Given the description of an element on the screen output the (x, y) to click on. 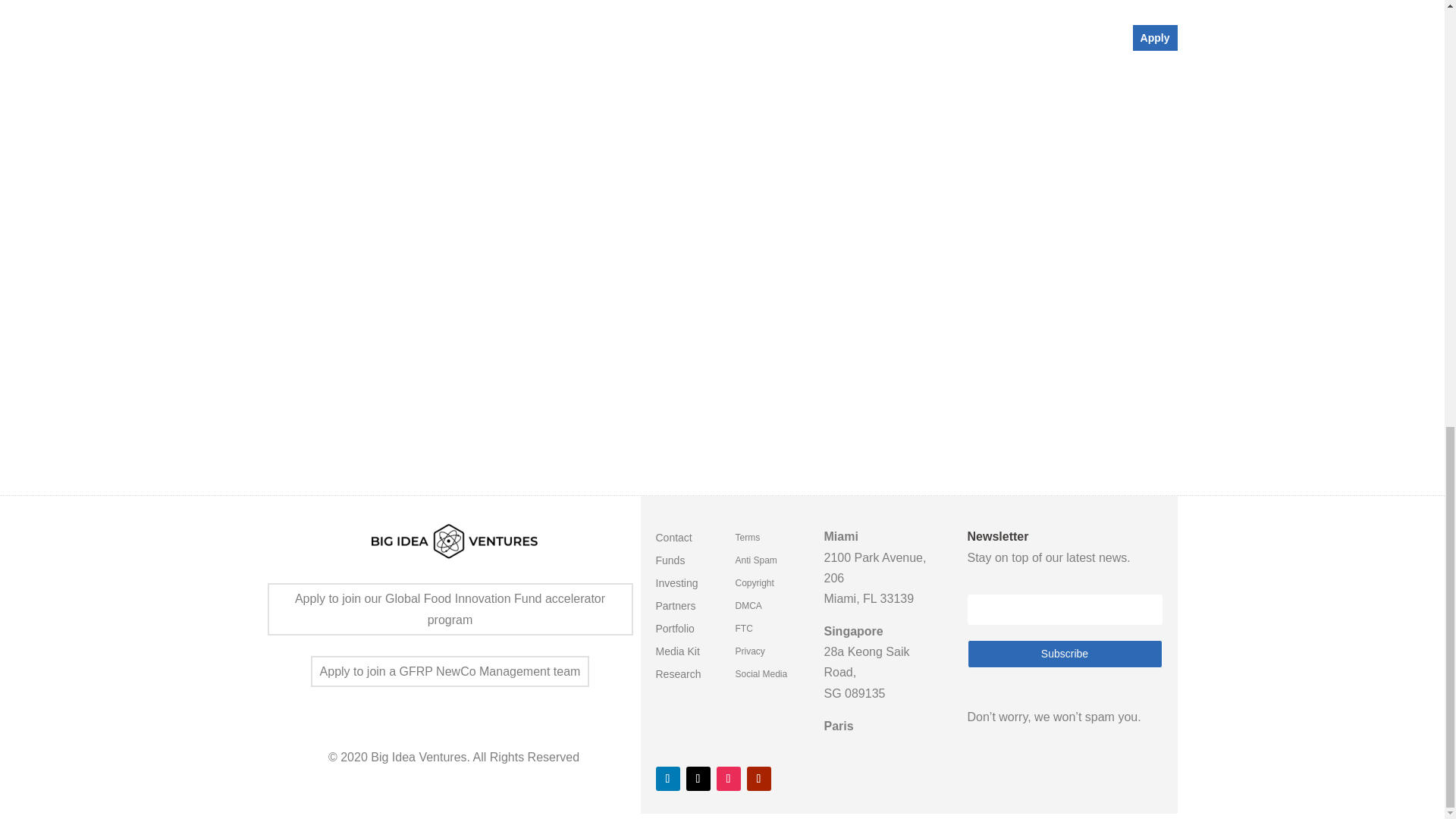
Subscribe (1064, 653)
Investing (676, 586)
Apply to join a GFRP NewCo Management team (450, 671)
Follow on Instagram (727, 778)
Terms (747, 540)
Funds (669, 563)
Follow on LinkedIn (667, 778)
Follow on X (697, 778)
Media Kit (676, 654)
Partners (675, 608)
Portfolio (674, 631)
Follow on Youtube (757, 778)
Contact (673, 540)
Anti Spam (756, 563)
